Given the description of an element on the screen output the (x, y) to click on. 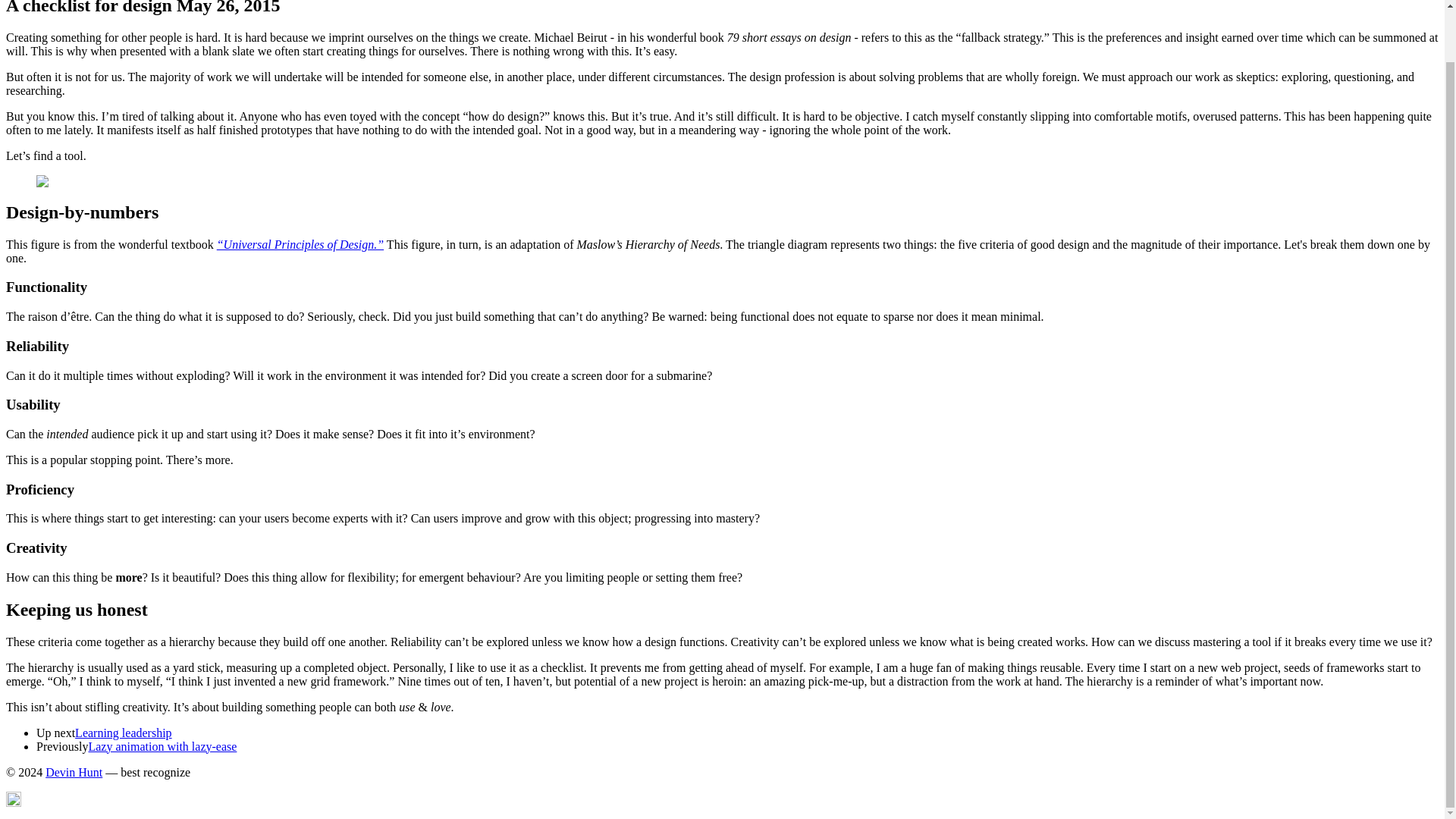
Learning leadership (123, 732)
Devin Hunt (73, 771)
Lazy animation with lazy-ease (161, 746)
